Given the description of an element on the screen output the (x, y) to click on. 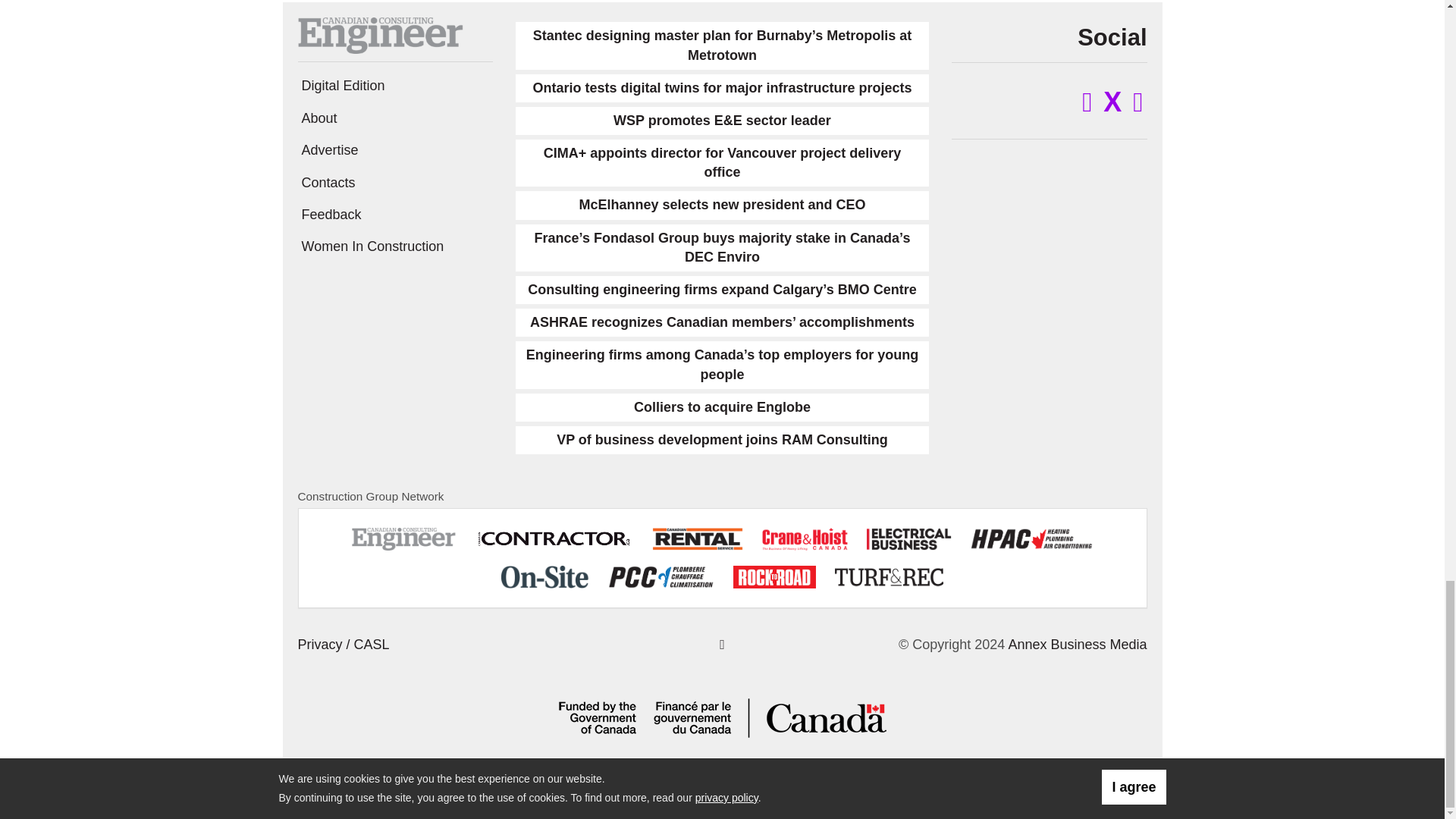
Canadian Consulting Engineer (380, 34)
Annex Business Media (1077, 644)
